Given the description of an element on the screen output the (x, y) to click on. 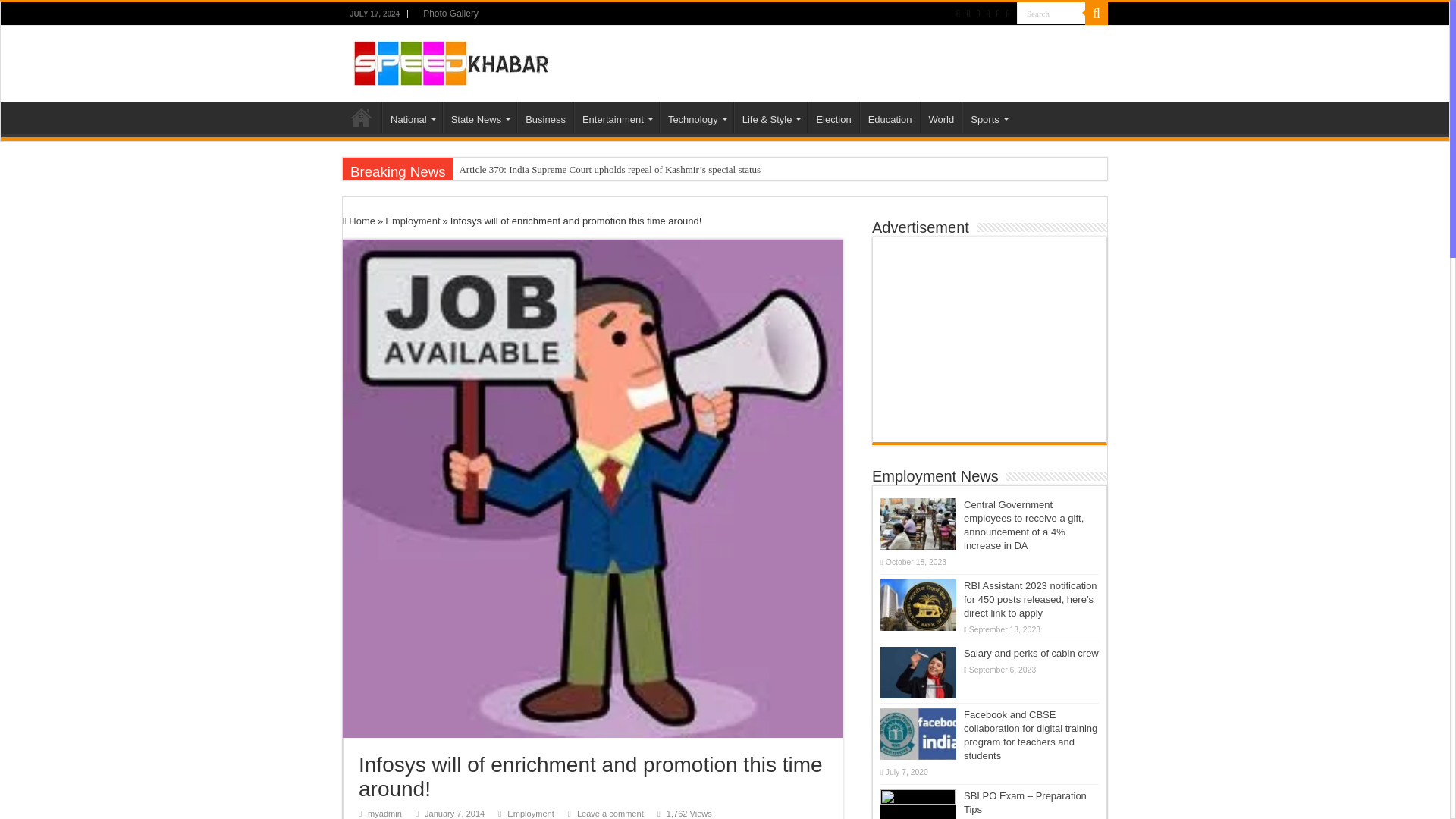
Search (1050, 13)
Home (361, 117)
National (411, 117)
Search (1050, 13)
Search (1096, 13)
Search (1050, 13)
Photo Gallery (450, 13)
Speed Khabar (451, 60)
